Given the description of an element on the screen output the (x, y) to click on. 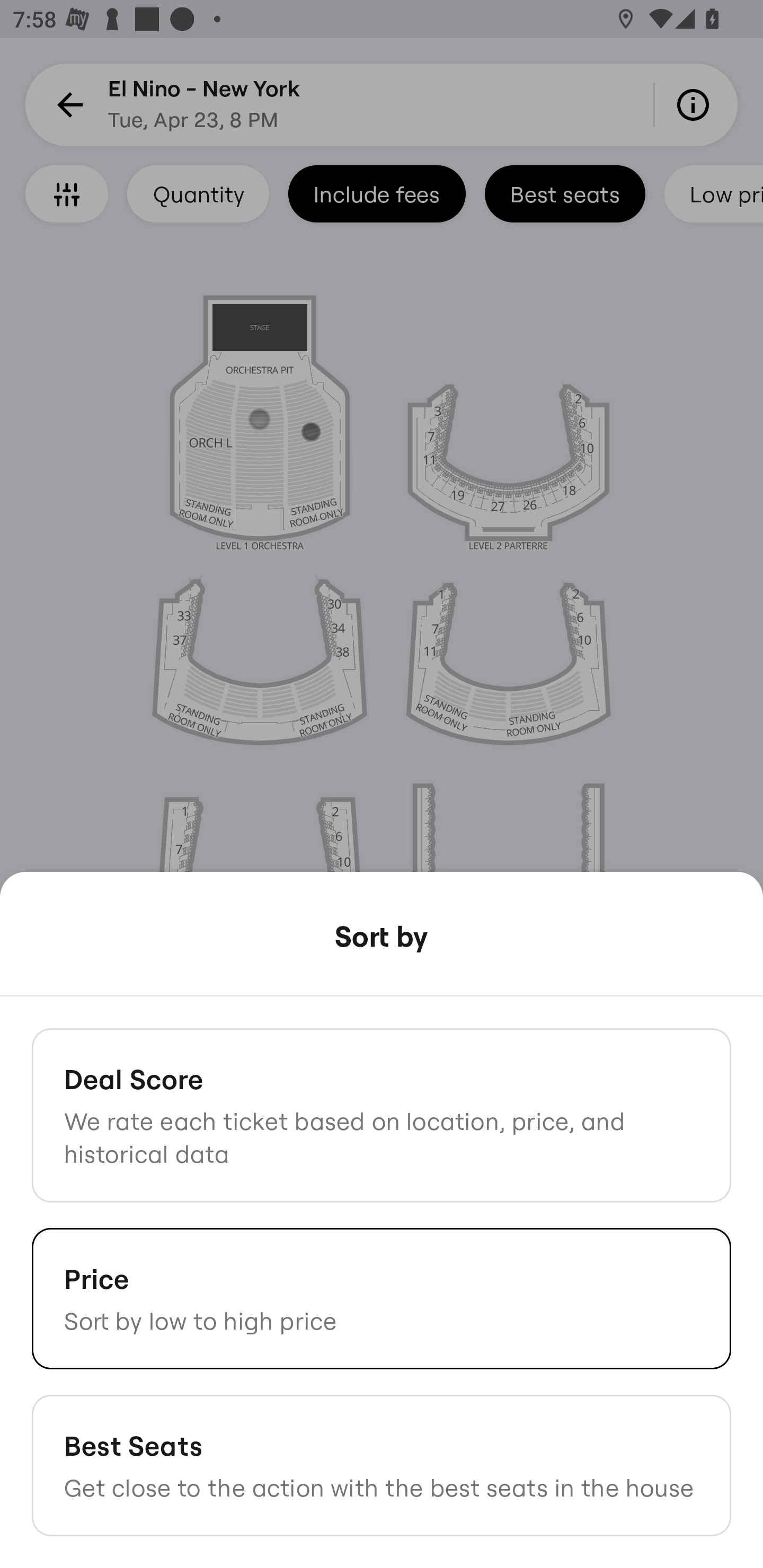
Price Sort by low to high price (381, 1297)
